Given the description of an element on the screen output the (x, y) to click on. 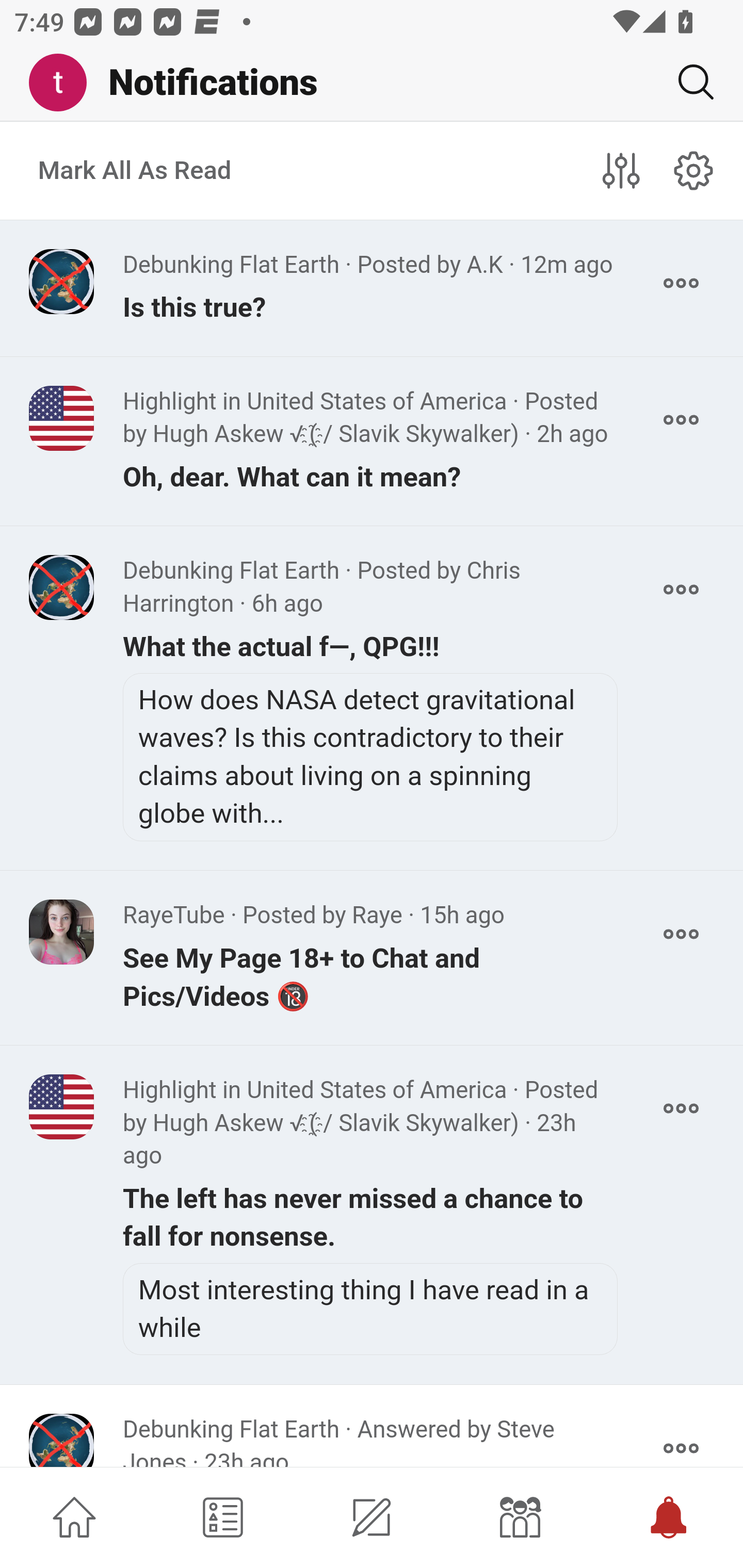
Me Notifications Search (371, 82)
Me (64, 83)
Search (688, 82)
Mark All As Read (135, 171)
notifications# (693, 170)
More (681, 282)
More (681, 419)
More (681, 590)
More (681, 934)
More (681, 1107)
More (681, 1440)
